Given the description of an element on the screen output the (x, y) to click on. 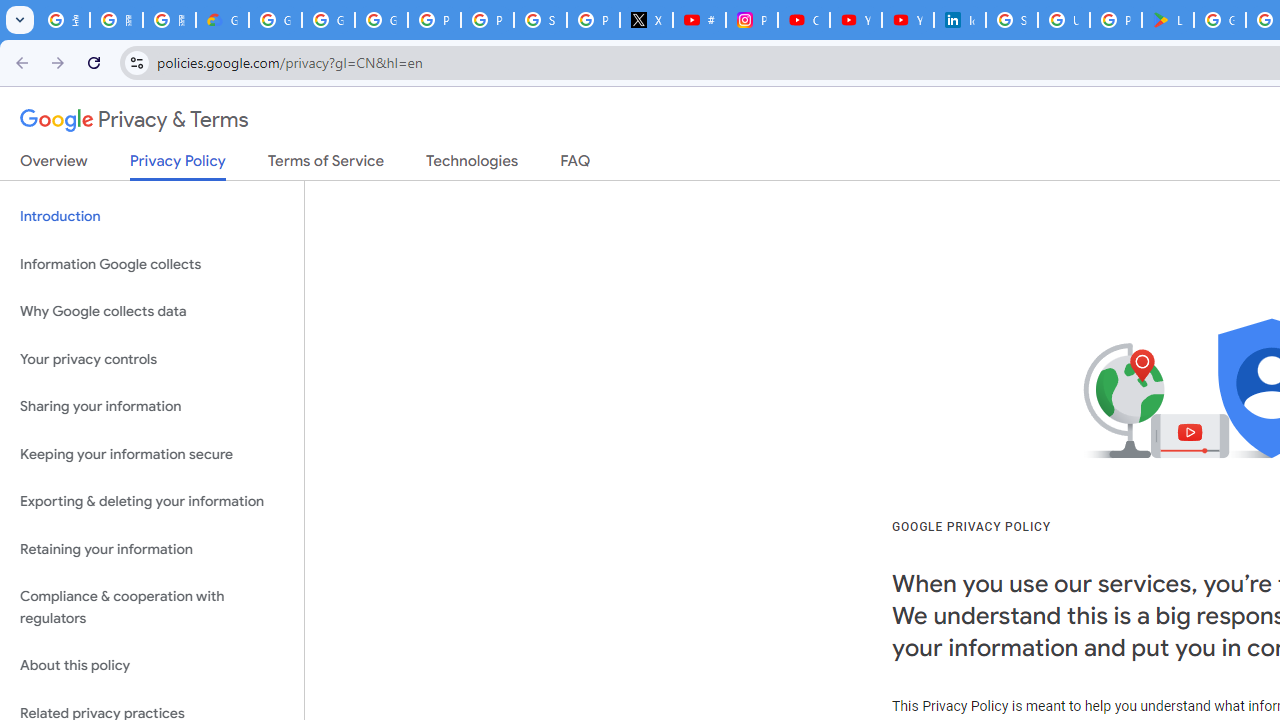
Why Google collects data (152, 312)
